Given the description of an element on the screen output the (x, y) to click on. 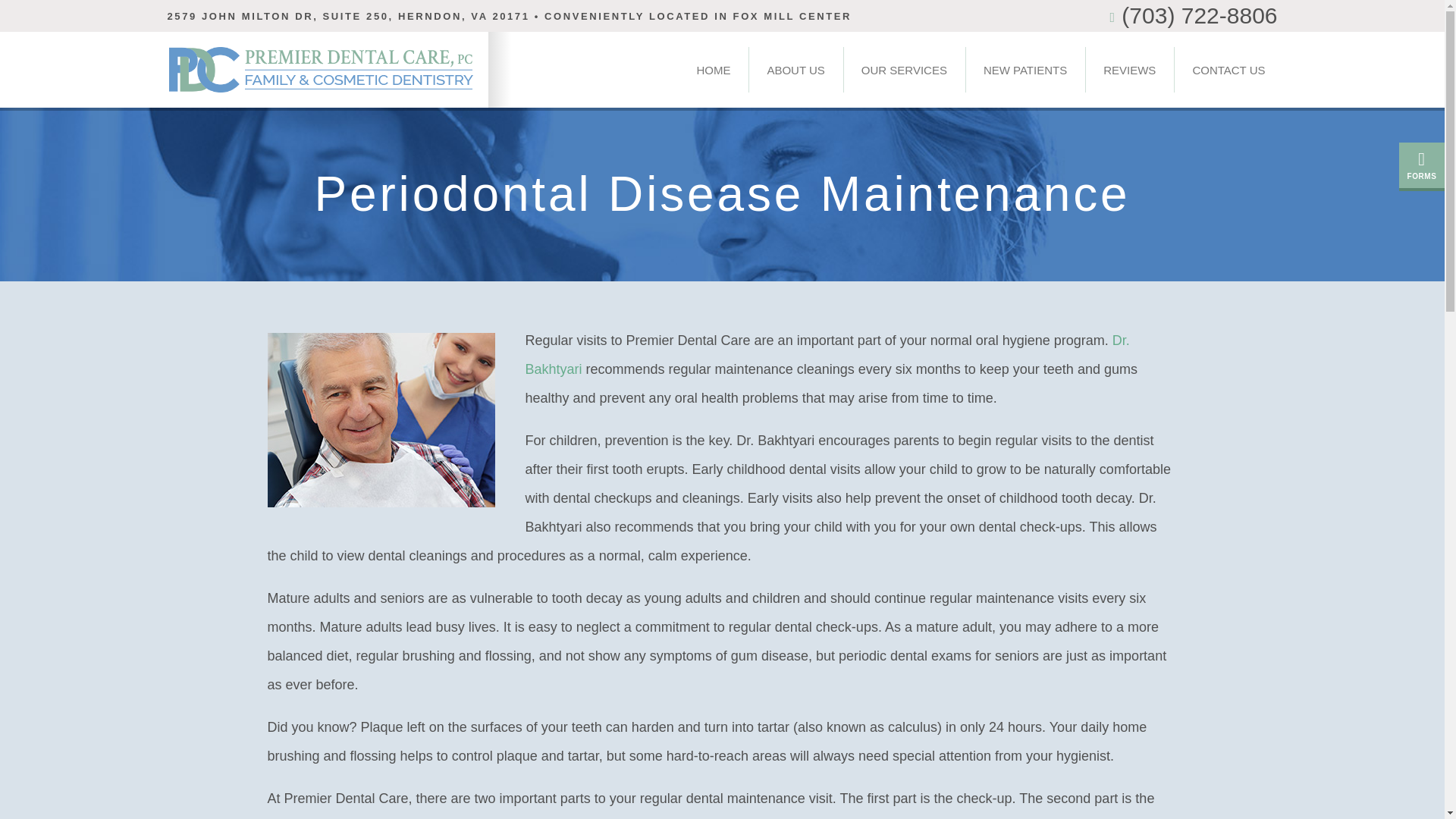
ABOUT US (795, 69)
2579 JOHN MILTON DR, SUITE 250, HERNDON, VA 20171 (348, 16)
Dentistry Services (904, 69)
OUR SERVICES (904, 69)
HOME (713, 69)
Dentist Herndon, VA (713, 69)
About Us (795, 69)
